Given the description of an element on the screen output the (x, y) to click on. 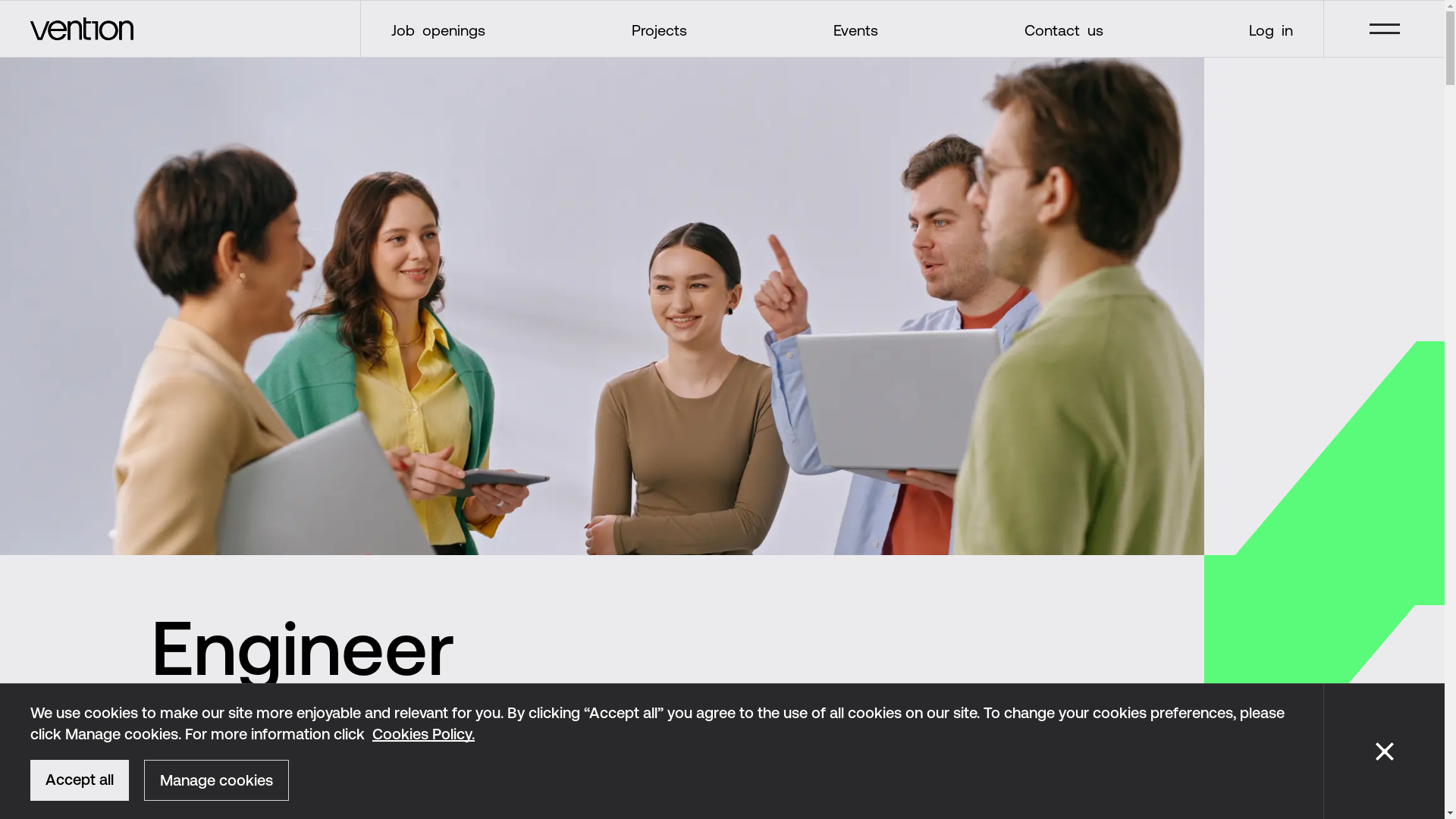
Job openings Element type: text (438, 28)
Cookies Policy. Element type: text (423, 733)
Events Element type: text (855, 28)
Join our team Element type: text (1022, 739)
Projects Element type: text (659, 28)
Log in Element type: text (1270, 28)
Contact us Element type: text (1062, 28)
